Given the description of an element on the screen output the (x, y) to click on. 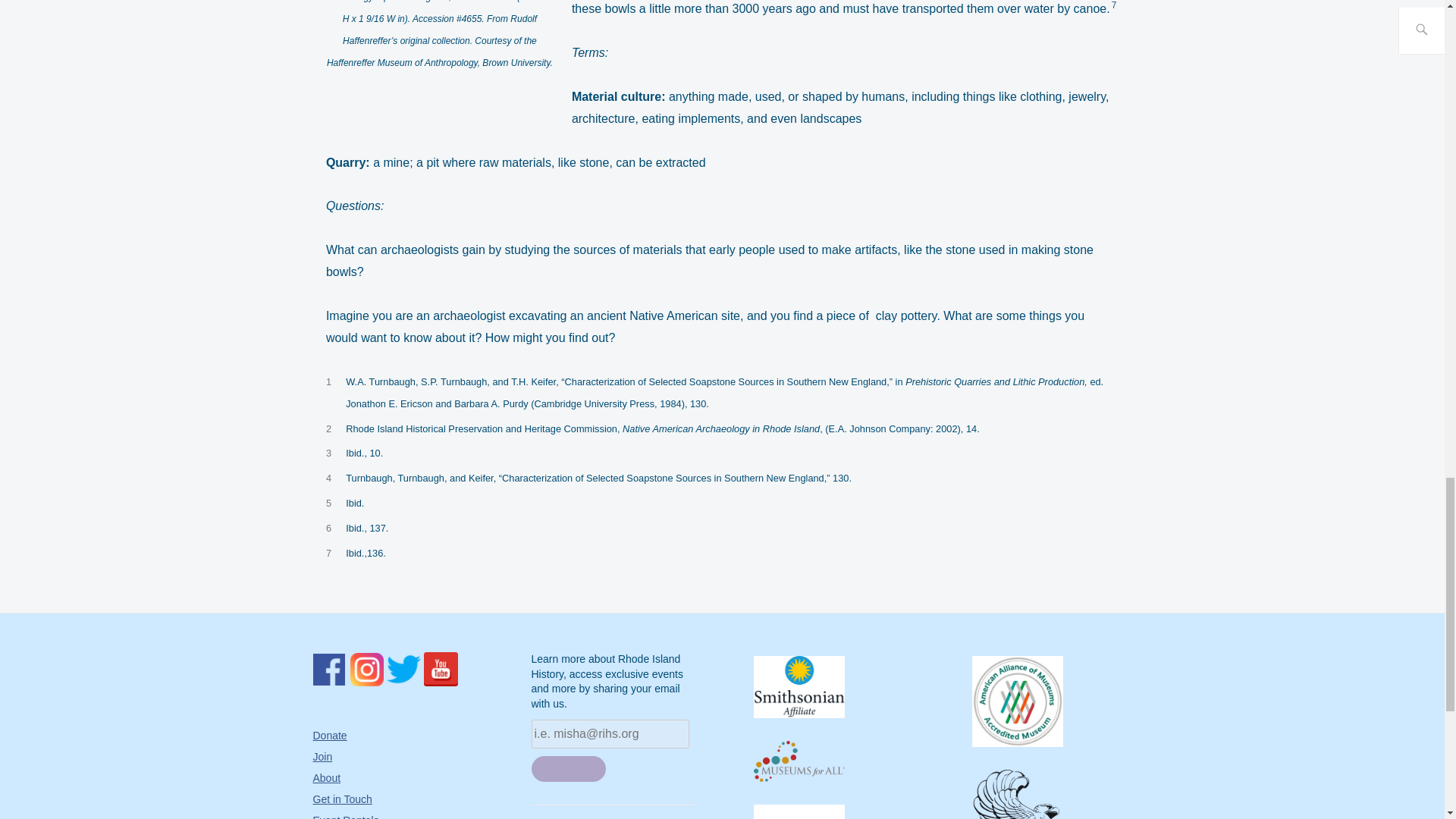
Sign up (568, 768)
